Given the description of an element on the screen output the (x, y) to click on. 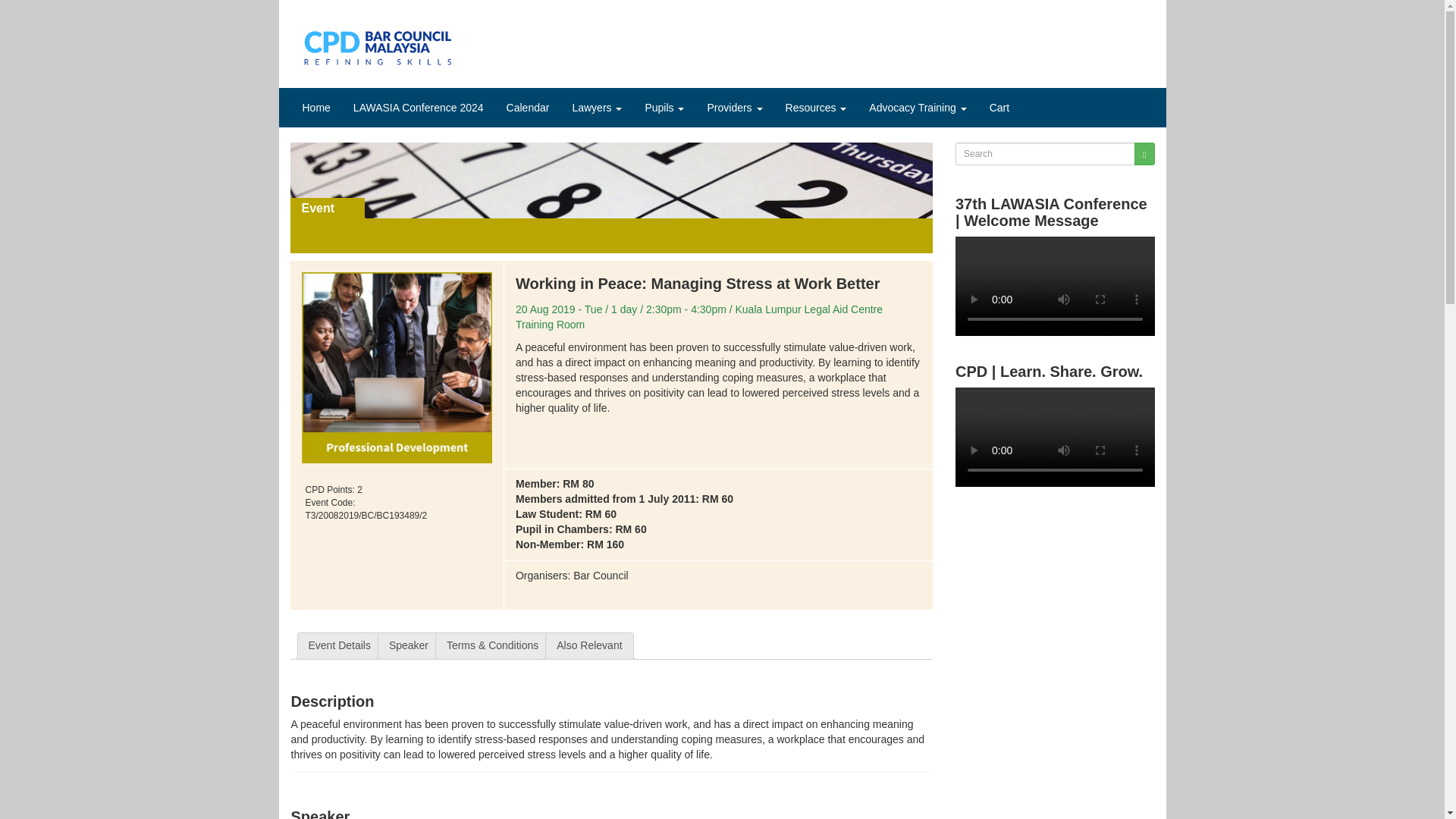
LAWASIA Conference 2024 (418, 107)
Resources (816, 107)
Lawyers (596, 107)
Providers (734, 107)
Lawyers (596, 107)
Calendar (527, 107)
Providers (734, 107)
Speaker (408, 646)
Pupils (664, 107)
Cart (999, 107)
